Given the description of an element on the screen output the (x, y) to click on. 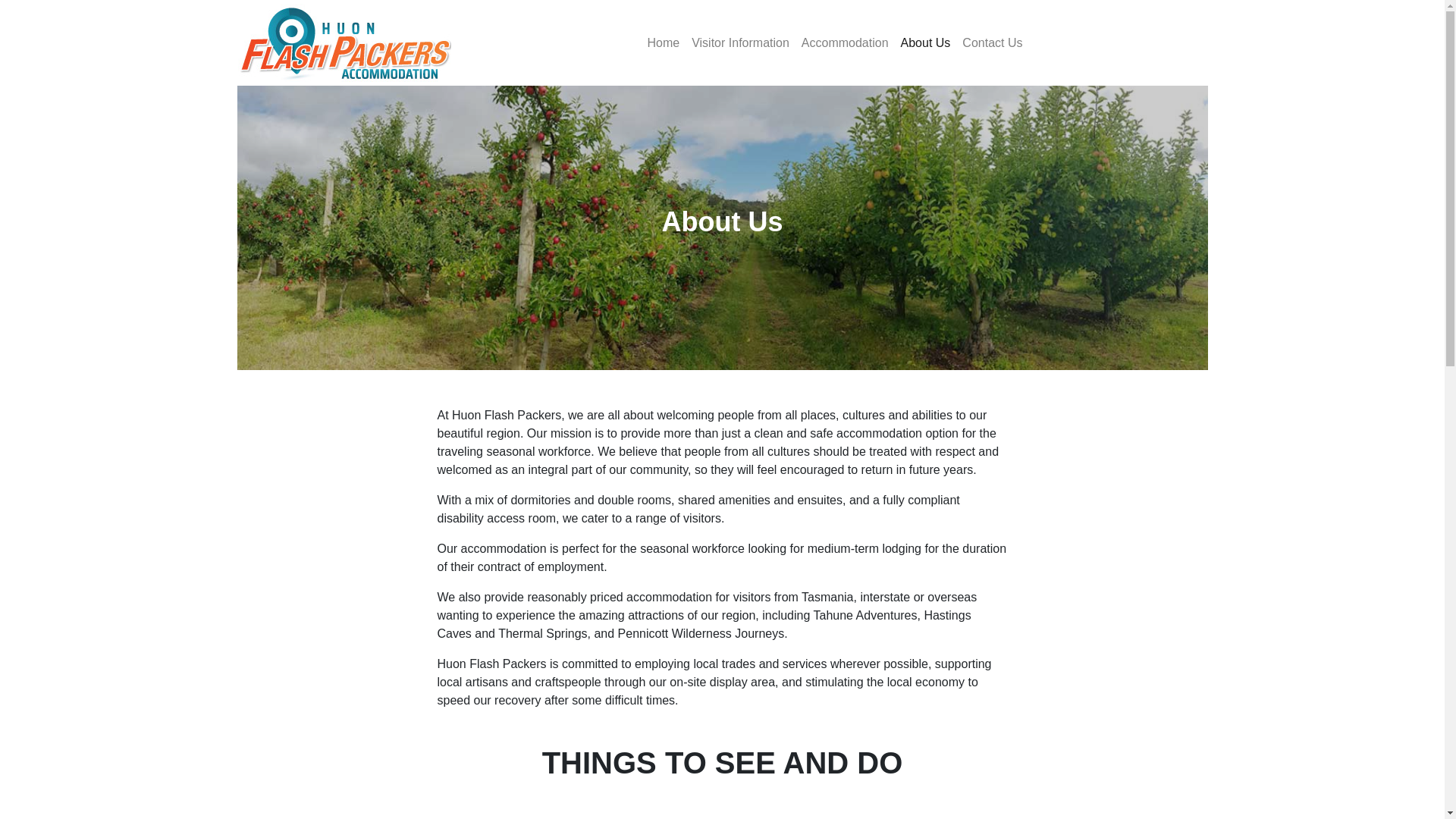
Visitor Information (739, 42)
Accommodation (844, 42)
About Us (925, 42)
Contact Us (991, 42)
About Us (925, 42)
Contact Us (991, 42)
Home (662, 42)
Home (662, 42)
Accommodation (844, 42)
Visitor Information (739, 42)
